Given the description of an element on the screen output the (x, y) to click on. 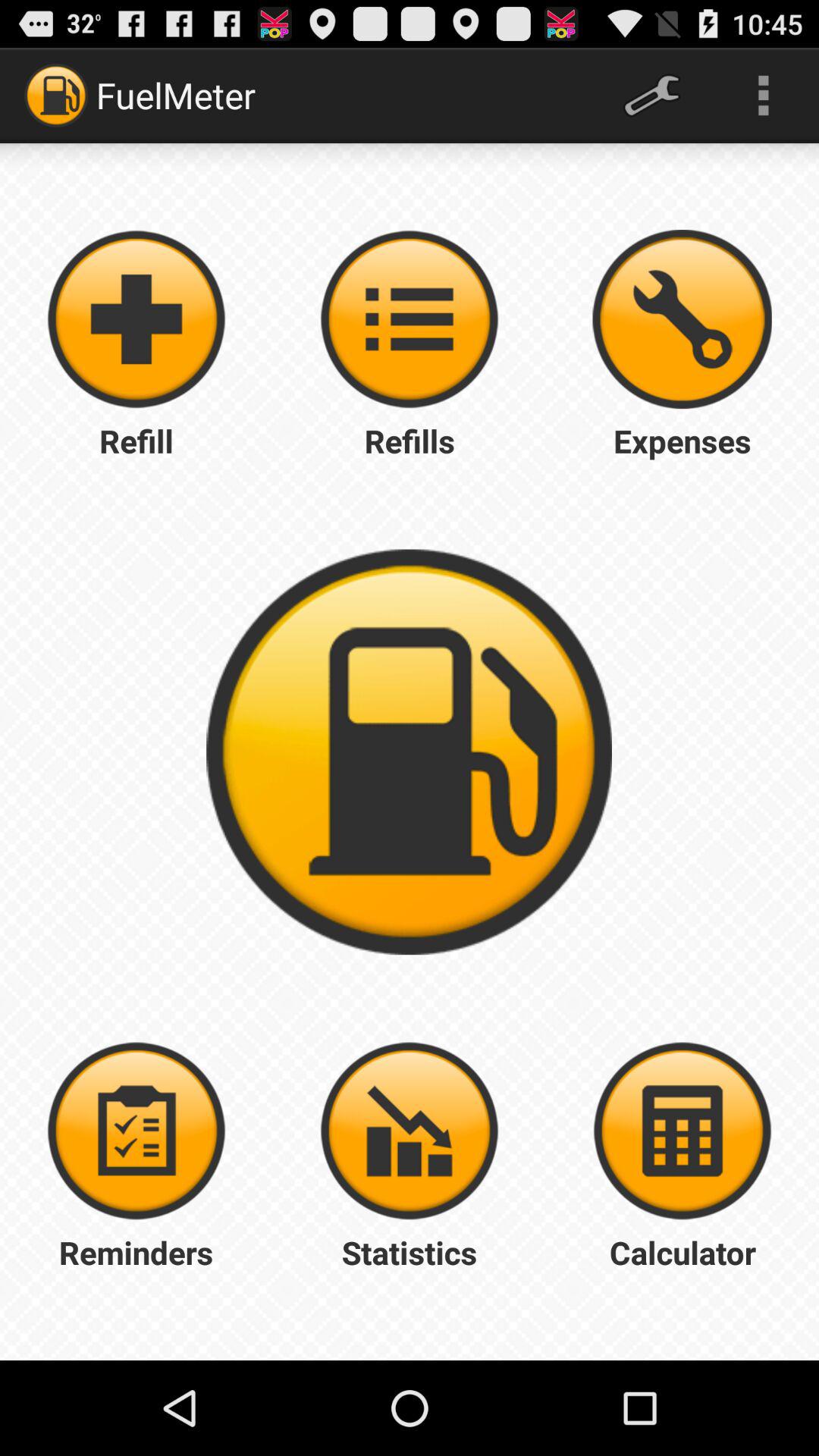
add fuel (136, 318)
